Given the description of an element on the screen output the (x, y) to click on. 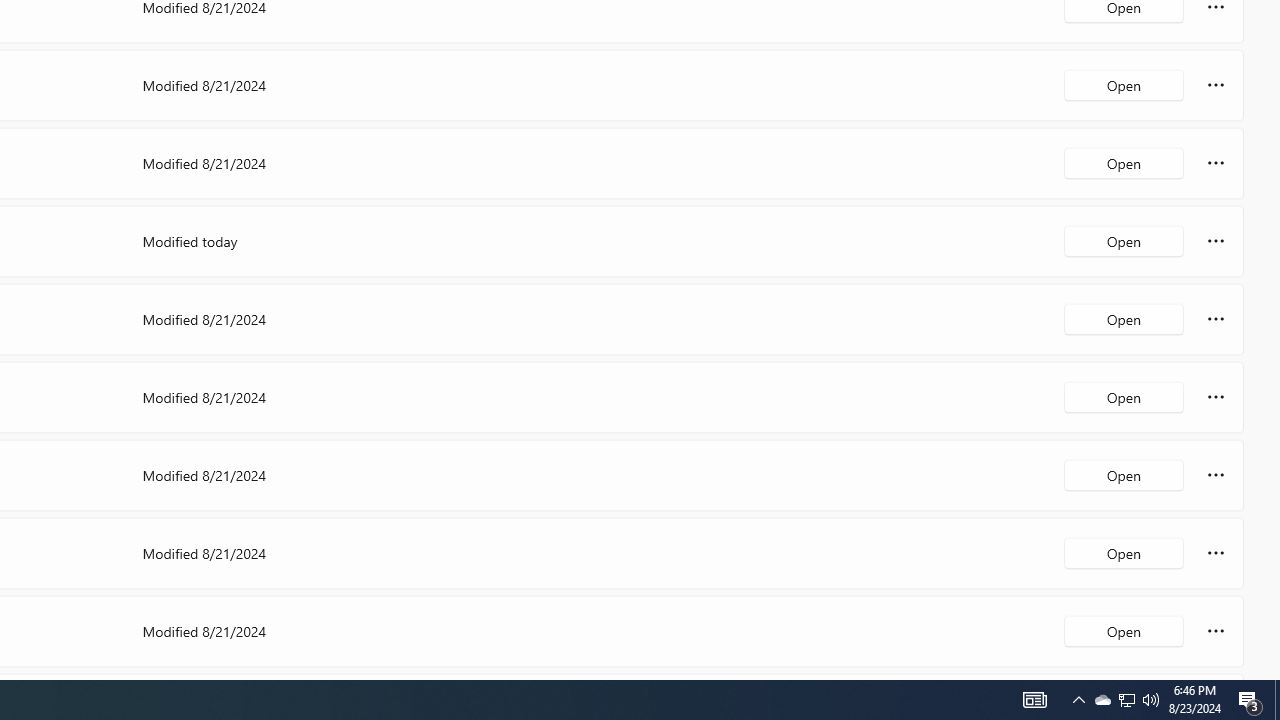
Vertical Small Increase (1272, 672)
More options (1215, 630)
Open (1123, 630)
